Given the description of an element on the screen output the (x, y) to click on. 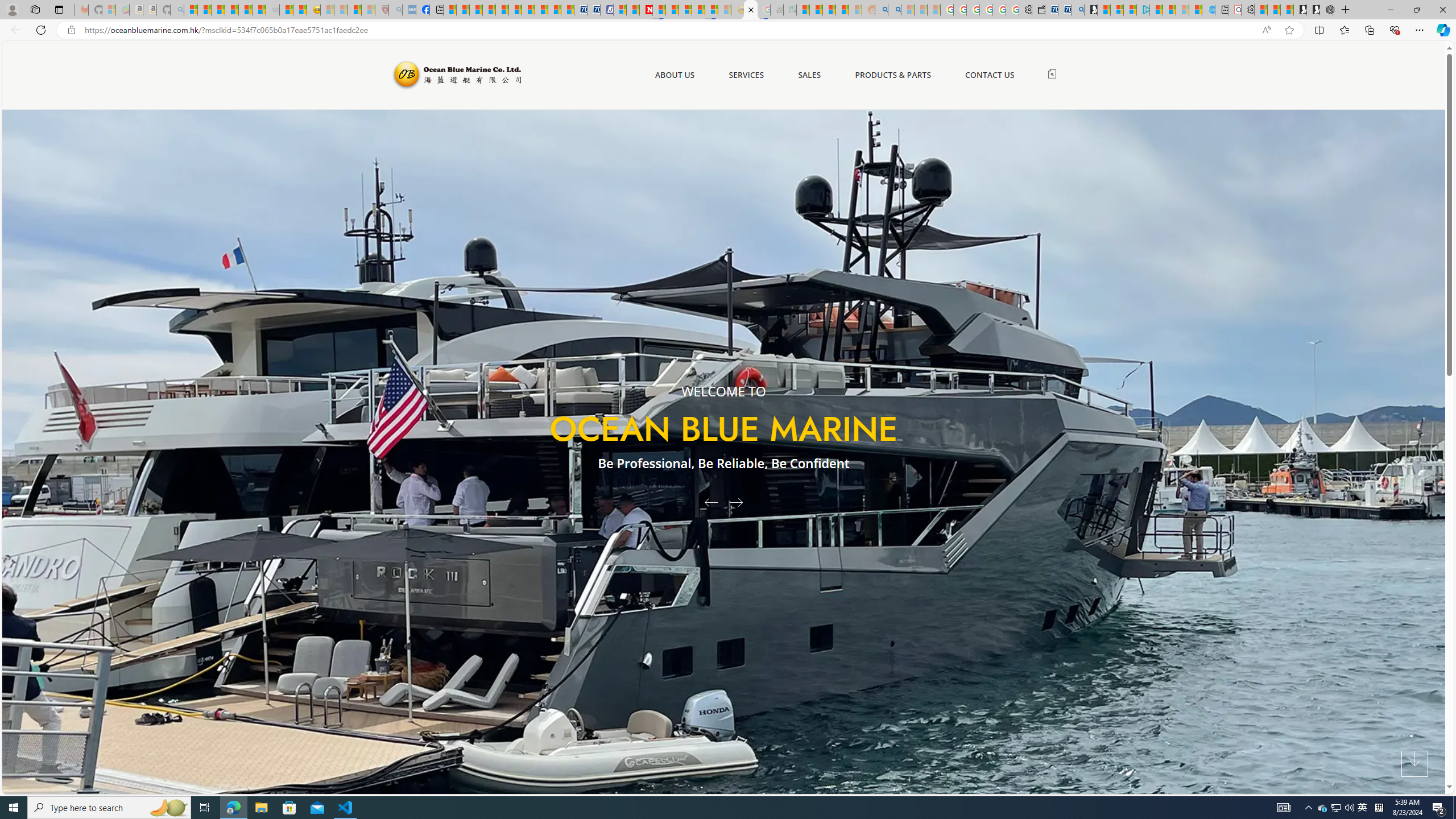
ABOUT US (674, 74)
ABOUT US (674, 75)
New Report Confirms 2023 Was Record Hot | Watch (245, 9)
The Weather Channel - MSN (218, 9)
12 Popular Science Lies that Must be Corrected - Sleeping (368, 9)
Utah sues federal government - Search (894, 9)
